Given the description of an element on the screen output the (x, y) to click on. 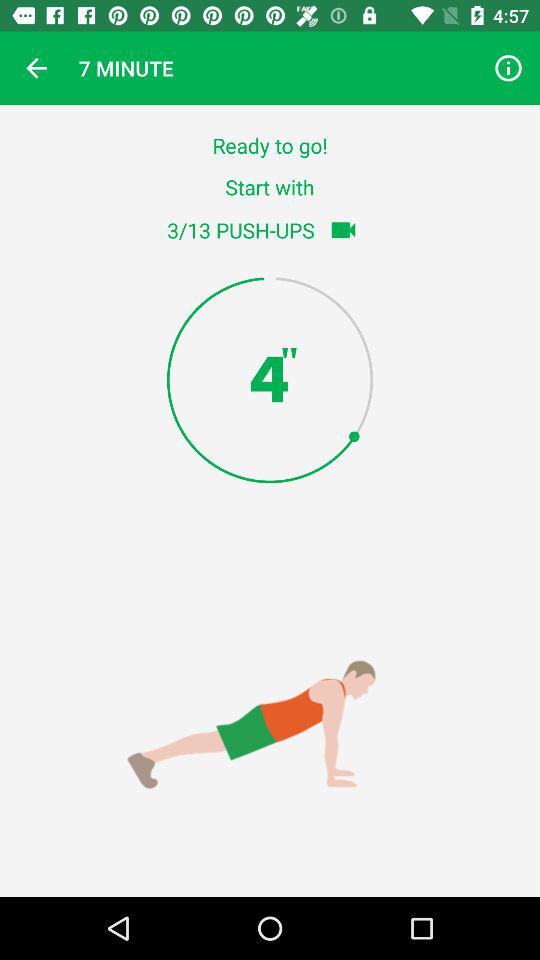
open the item to the left of the 7 minute icon (36, 68)
